Given the description of an element on the screen output the (x, y) to click on. 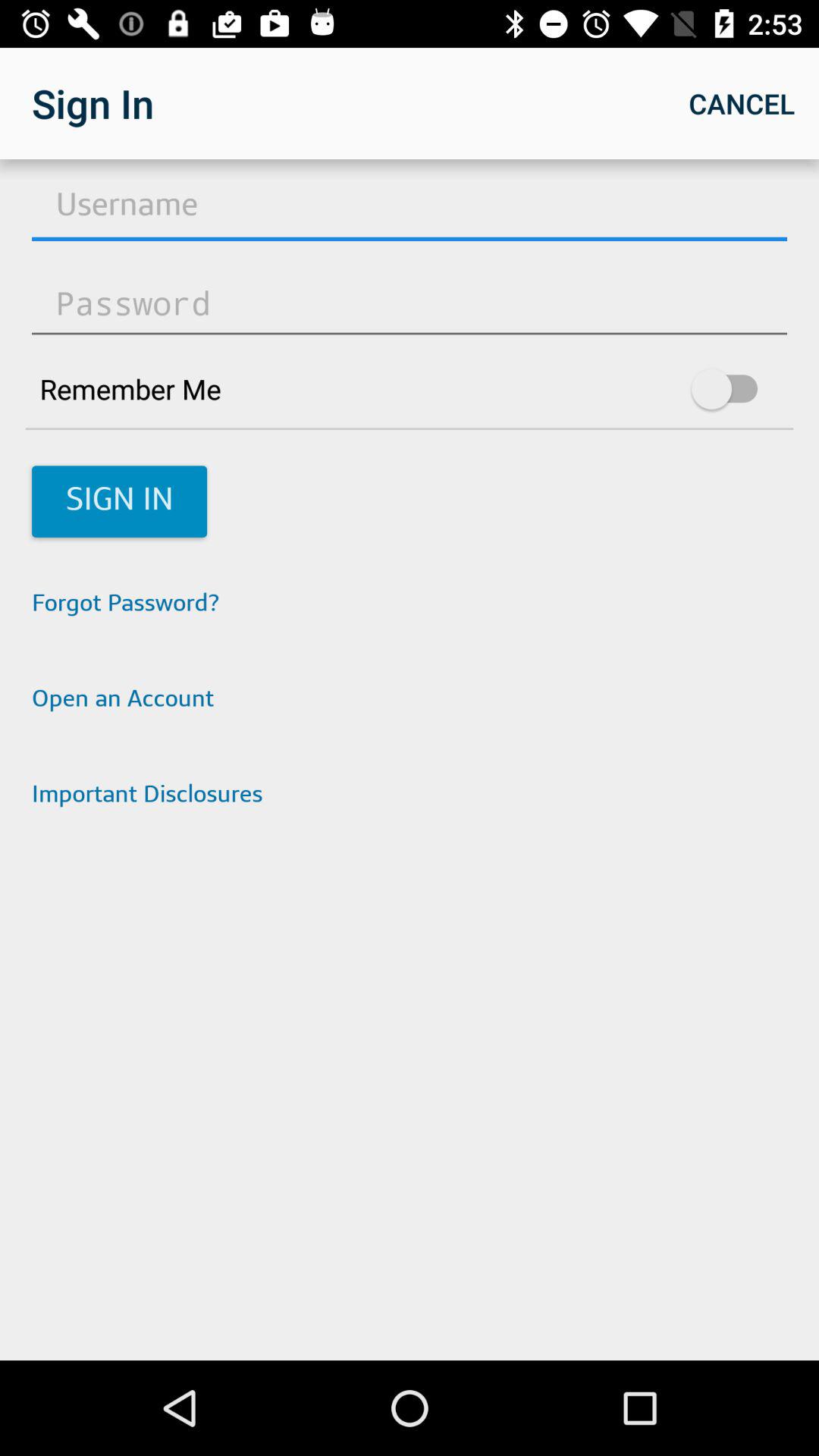
turn on app next to sign in icon (741, 103)
